Given the description of an element on the screen output the (x, y) to click on. 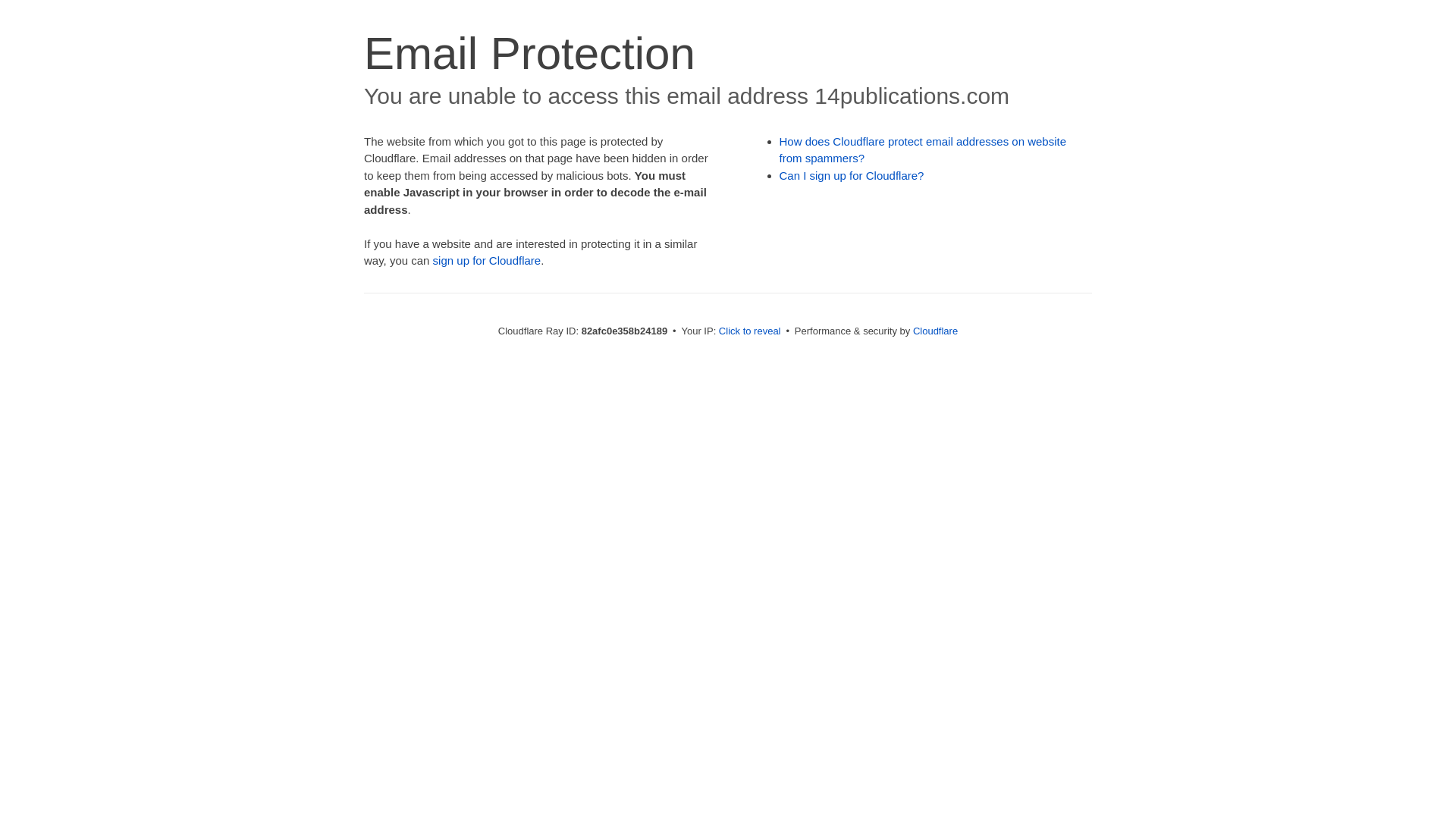
sign up for Cloudflare Element type: text (487, 260)
Click to reveal Element type: text (749, 330)
Can I sign up for Cloudflare? Element type: text (851, 175)
Cloudflare Element type: text (935, 330)
